Given the description of an element on the screen output the (x, y) to click on. 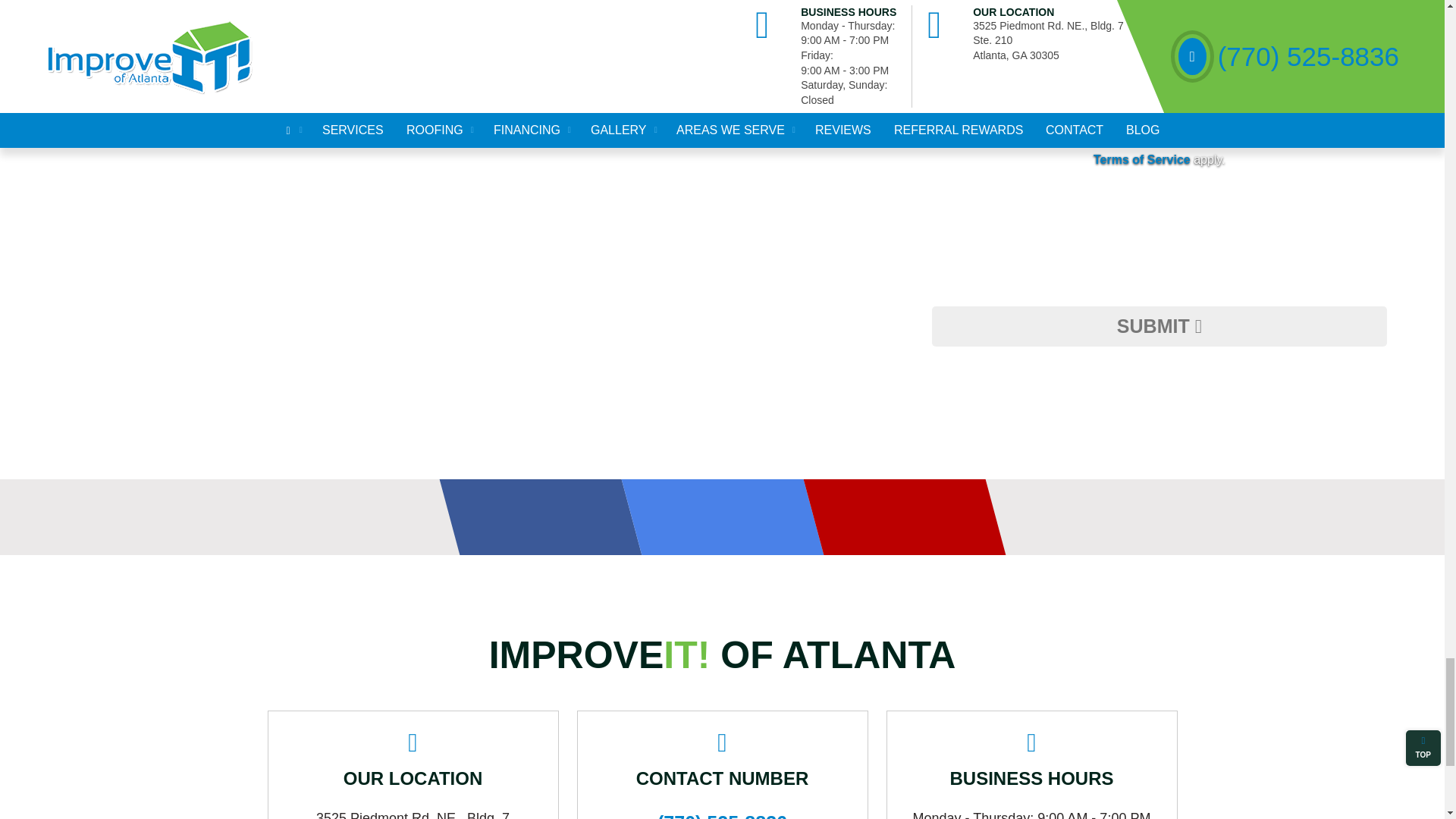
Google My Business (712, 517)
Visit Our Facebook Page (530, 517)
Visit Our YouTube Channel (894, 517)
